Given the description of an element on the screen output the (x, y) to click on. 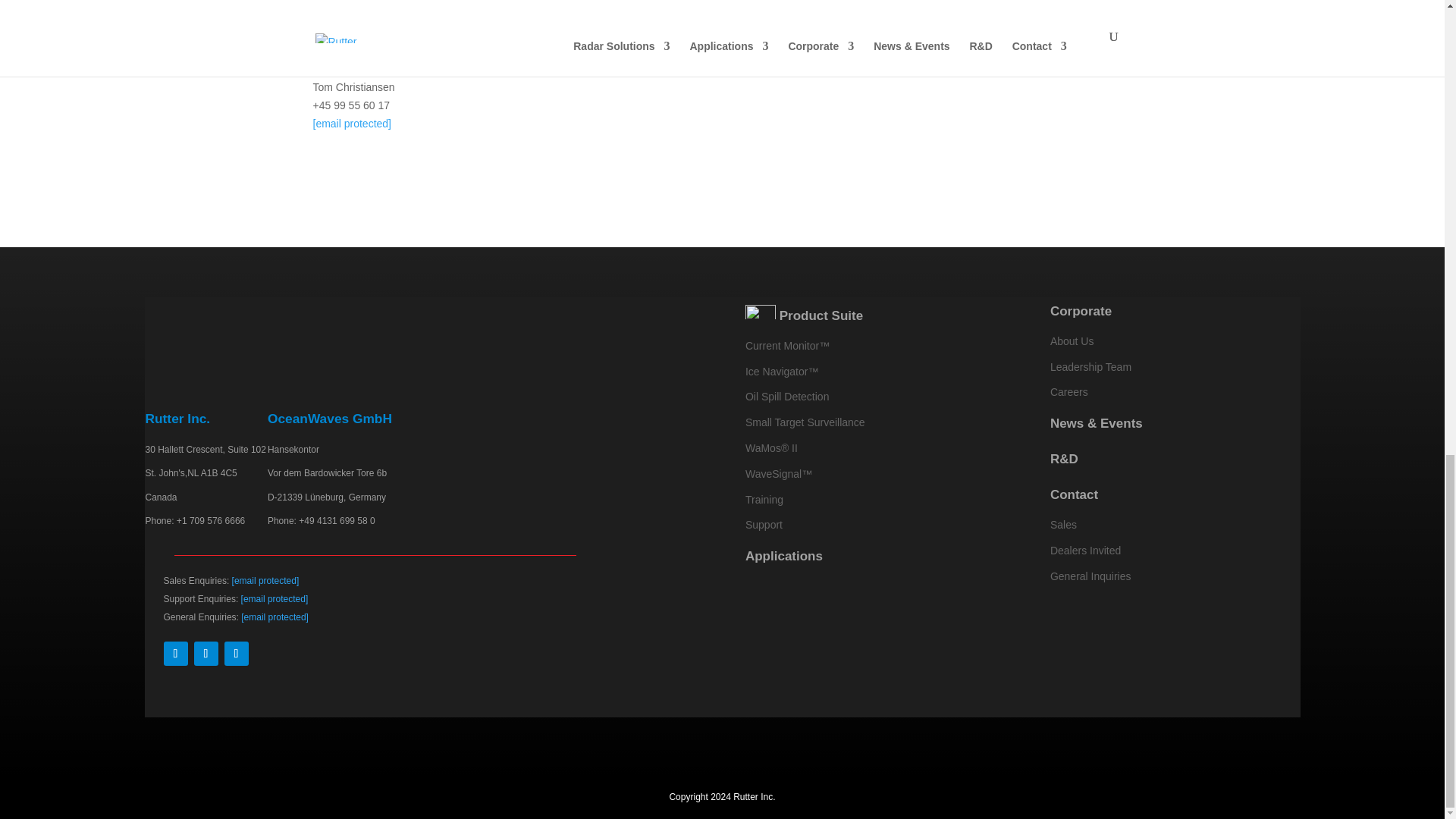
Follow on Facebook (175, 653)
Follow on X (236, 653)
Follow on LinkedIn (205, 653)
